Given the description of an element on the screen output the (x, y) to click on. 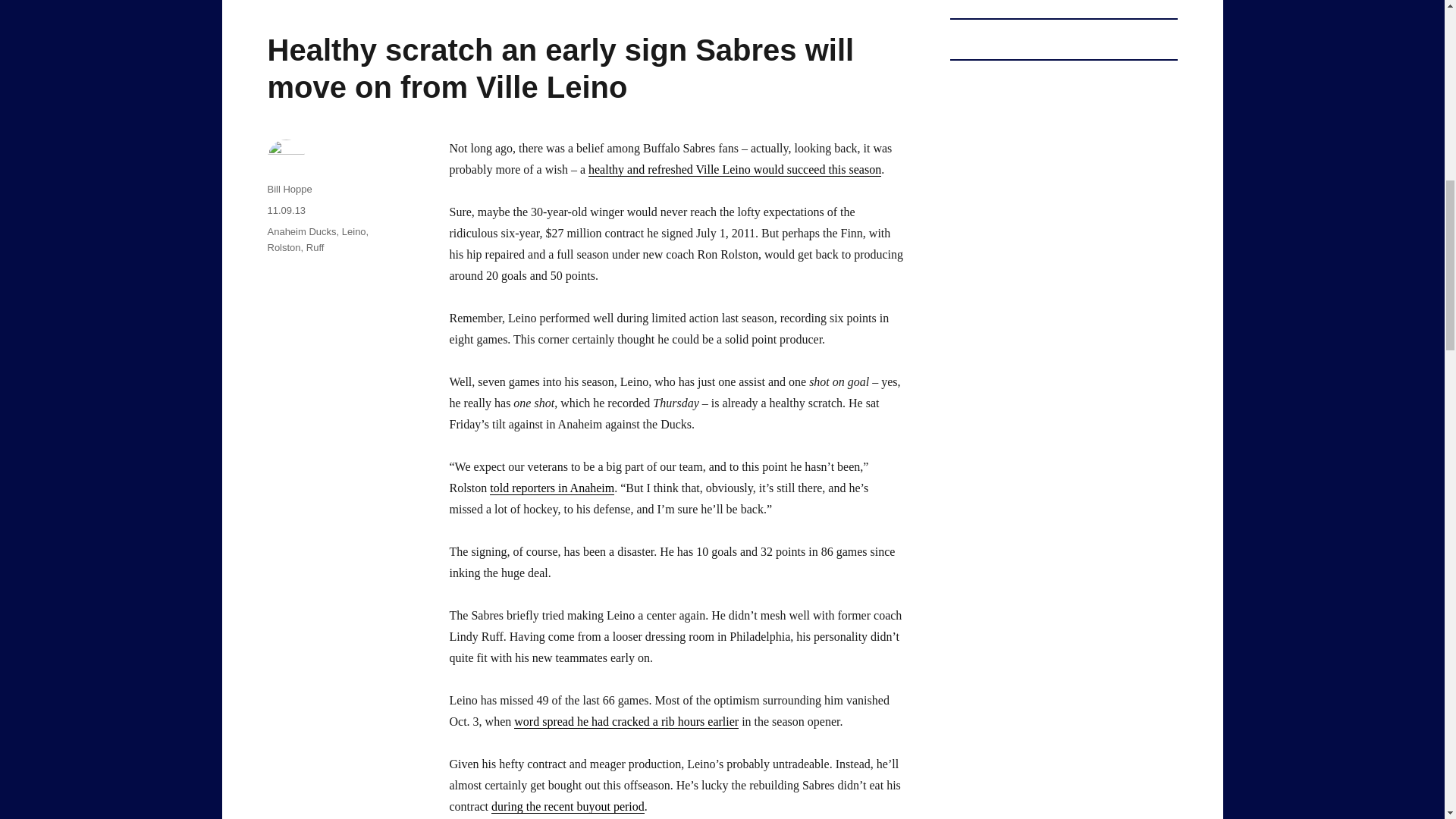
healthy and refreshed Ville Leino would succeed this season (734, 169)
during the recent buyout period (568, 806)
11.09.13 (285, 210)
Rolston (282, 247)
word spread he had cracked a rib hours earlier (625, 721)
Bill Hoppe (288, 188)
Anaheim Ducks (301, 231)
Leino (354, 231)
Ruff (314, 247)
told reporters in Anaheim (551, 487)
